Given the description of an element on the screen output the (x, y) to click on. 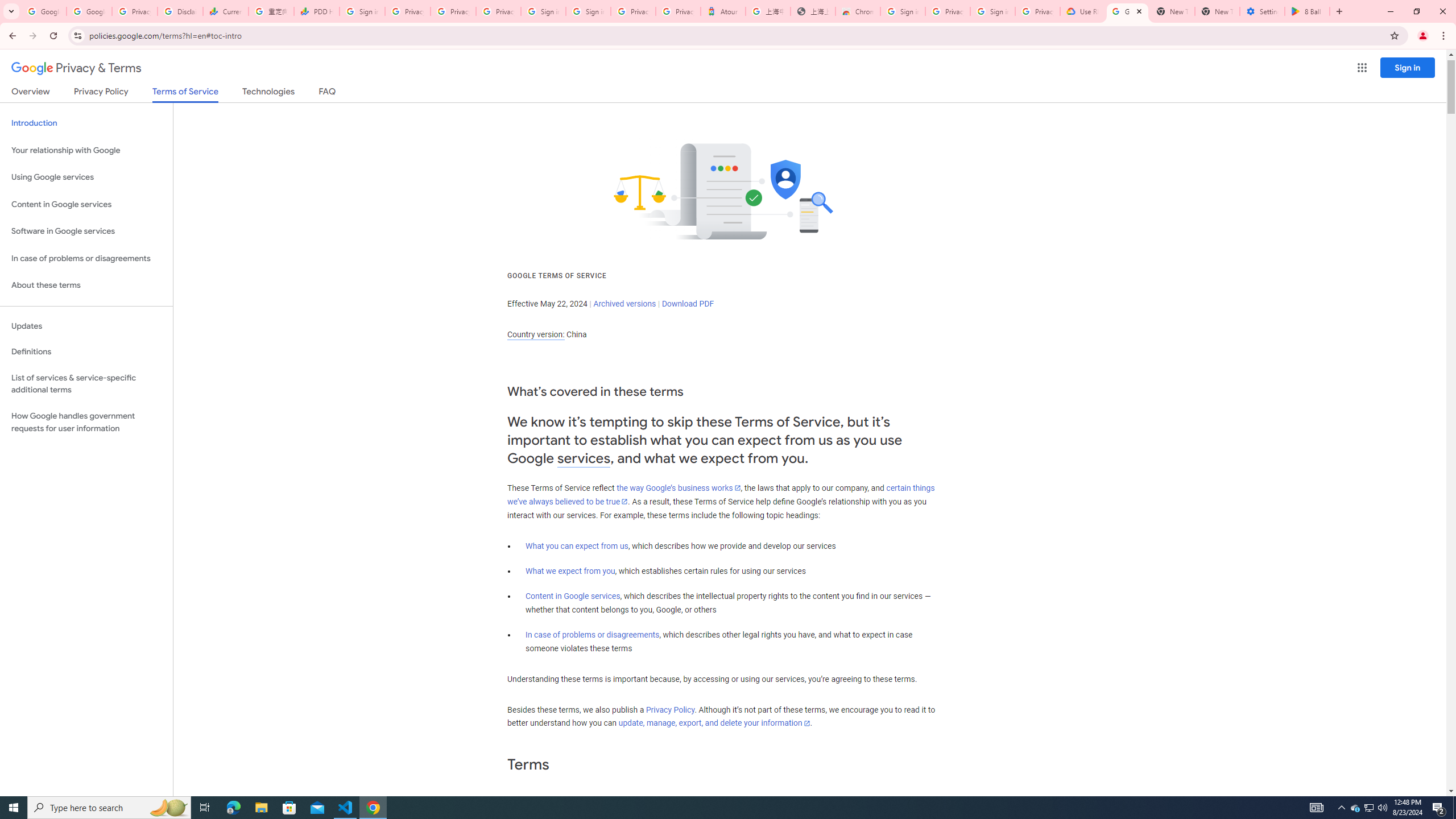
Currencies - Google Finance (225, 11)
Country version: (535, 334)
Your relationship with Google (86, 150)
How Google handles government requests for user information (86, 422)
Chrome Web Store - Color themes by Chrome (857, 11)
